Given the description of an element on the screen output the (x, y) to click on. 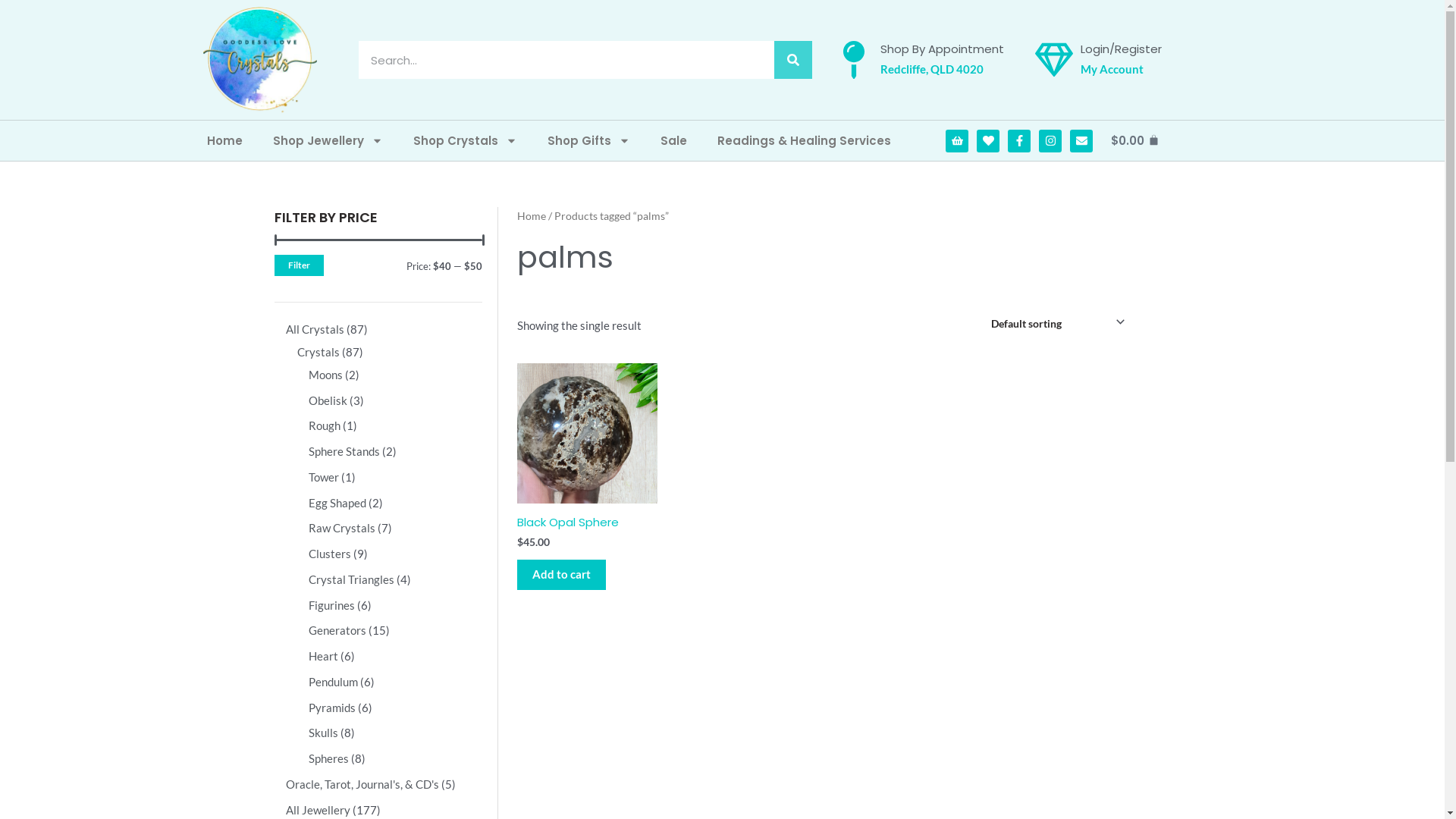
Sale Element type: text (672, 140)
Login/Register Element type: text (1120, 48)
Filter Element type: text (298, 265)
Shopping-basket Element type: text (956, 140)
Obelisk Element type: text (326, 400)
Search Element type: text (793, 59)
All Crystals Element type: text (314, 328)
Add to cart Element type: text (561, 574)
Spheres Element type: text (327, 758)
Envelope Element type: text (1081, 140)
Readings & Healing Services Element type: text (804, 140)
Pendulum Element type: text (332, 681)
Pyramids Element type: text (330, 707)
Shop Jewellery Element type: text (327, 140)
Black Opal Sphere Element type: text (567, 525)
Sphere Stands Element type: text (343, 451)
Rough Element type: text (323, 425)
Tower Element type: text (322, 476)
Moons Element type: text (324, 374)
Oracle, Tarot, Journal's, & CD's Element type: text (361, 783)
$0.00
Cart Element type: text (1134, 140)
Crystal Triangles Element type: text (350, 579)
Clusters Element type: text (328, 553)
Figurines Element type: text (330, 604)
Generators Element type: text (336, 630)
Heart Element type: text (987, 140)
Facebook-f Element type: text (1018, 140)
Crystals Element type: text (318, 351)
Instagram Element type: text (1049, 140)
Egg Shaped Element type: text (336, 502)
Shop Gifts Element type: text (588, 140)
All Jewellery Element type: text (317, 809)
Heart Element type: text (322, 655)
Raw Crystals Element type: text (340, 527)
Home Element type: text (531, 215)
Shop Crystals Element type: text (464, 140)
Skulls Element type: text (322, 732)
Home Element type: text (224, 140)
